Given the description of an element on the screen output the (x, y) to click on. 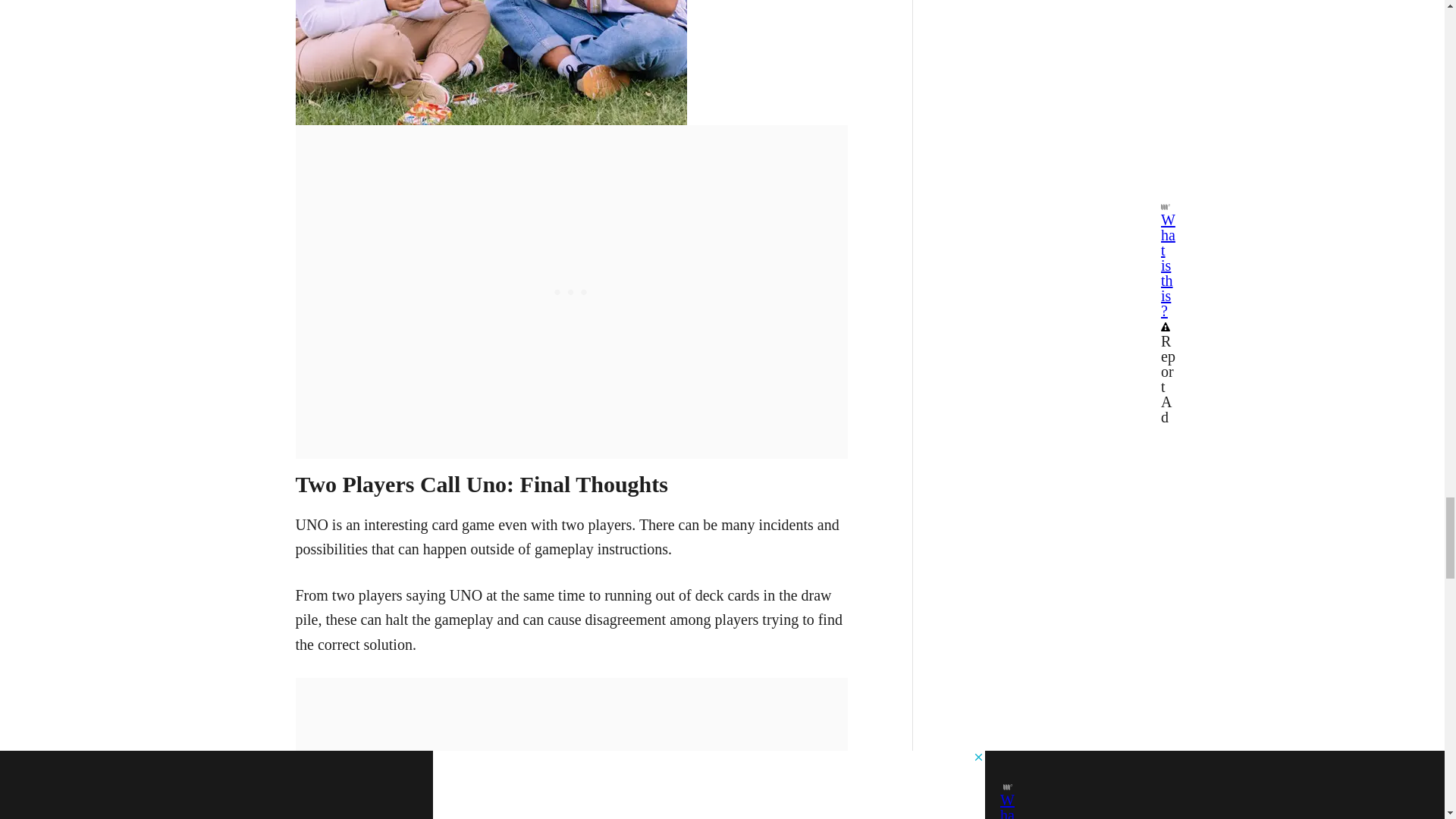
What happens when two players say Uno at the same time (491, 62)
